Given the description of an element on the screen output the (x, y) to click on. 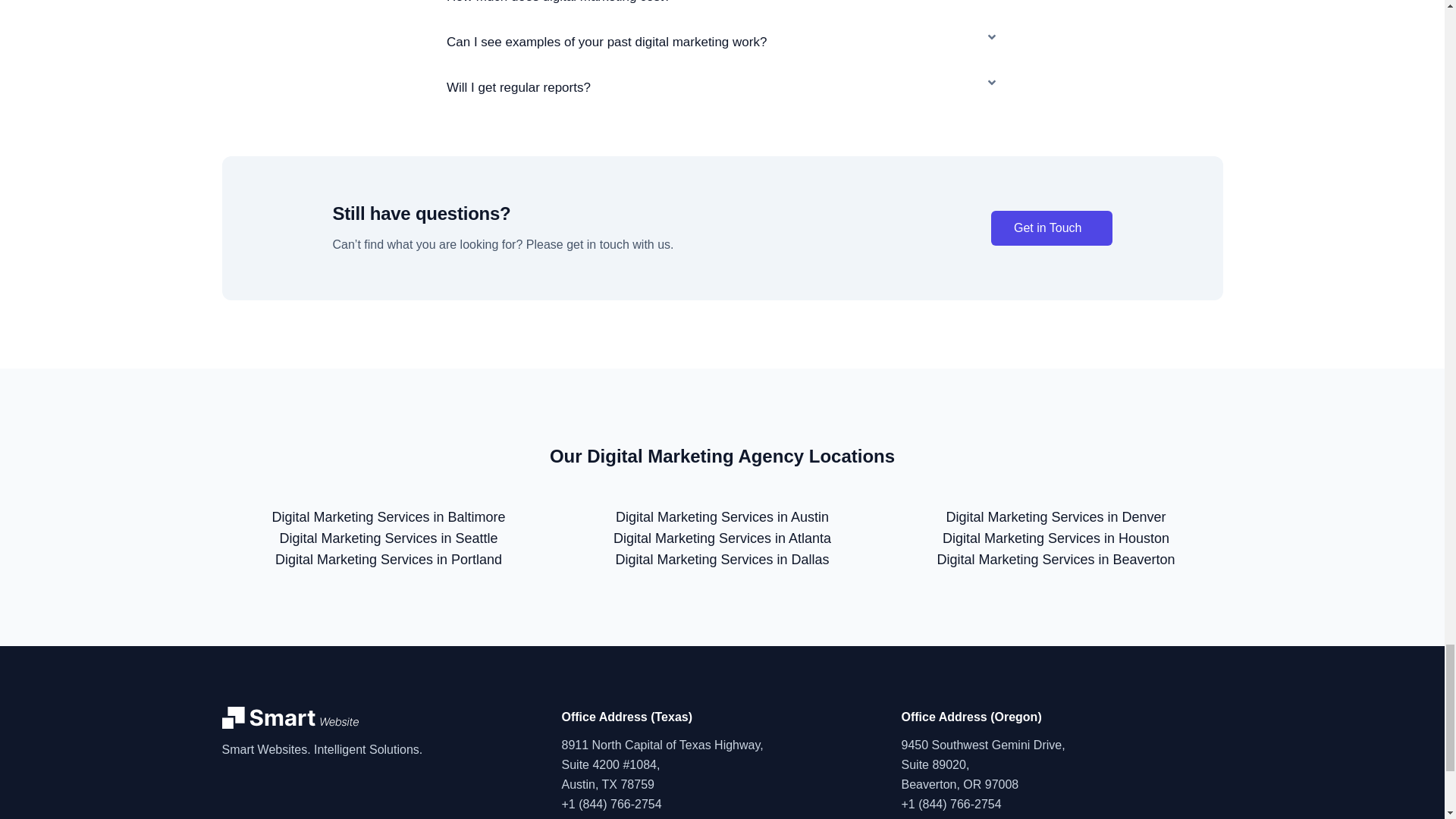
Digital Marketing Services in Baltimore (387, 516)
Digital Marketing Services in Portland (388, 559)
Digital Marketing Services in Atlanta (721, 538)
How much does digital marketing cost? (558, 2)
Digital Marketing Services in Seattle (388, 538)
Digital Marketing Services in Austin (721, 516)
Digital Marketing Services in Denver (1055, 516)
Digital Marketing Services in Houston (1055, 538)
Can I see examples of your past digital marketing work? (606, 42)
Will I get regular reports? (518, 87)
Digital Marketing Services in Beaverton (1055, 559)
Digital Marketing Services in Dallas (721, 559)
Get in Touch (1051, 227)
